Given the description of an element on the screen output the (x, y) to click on. 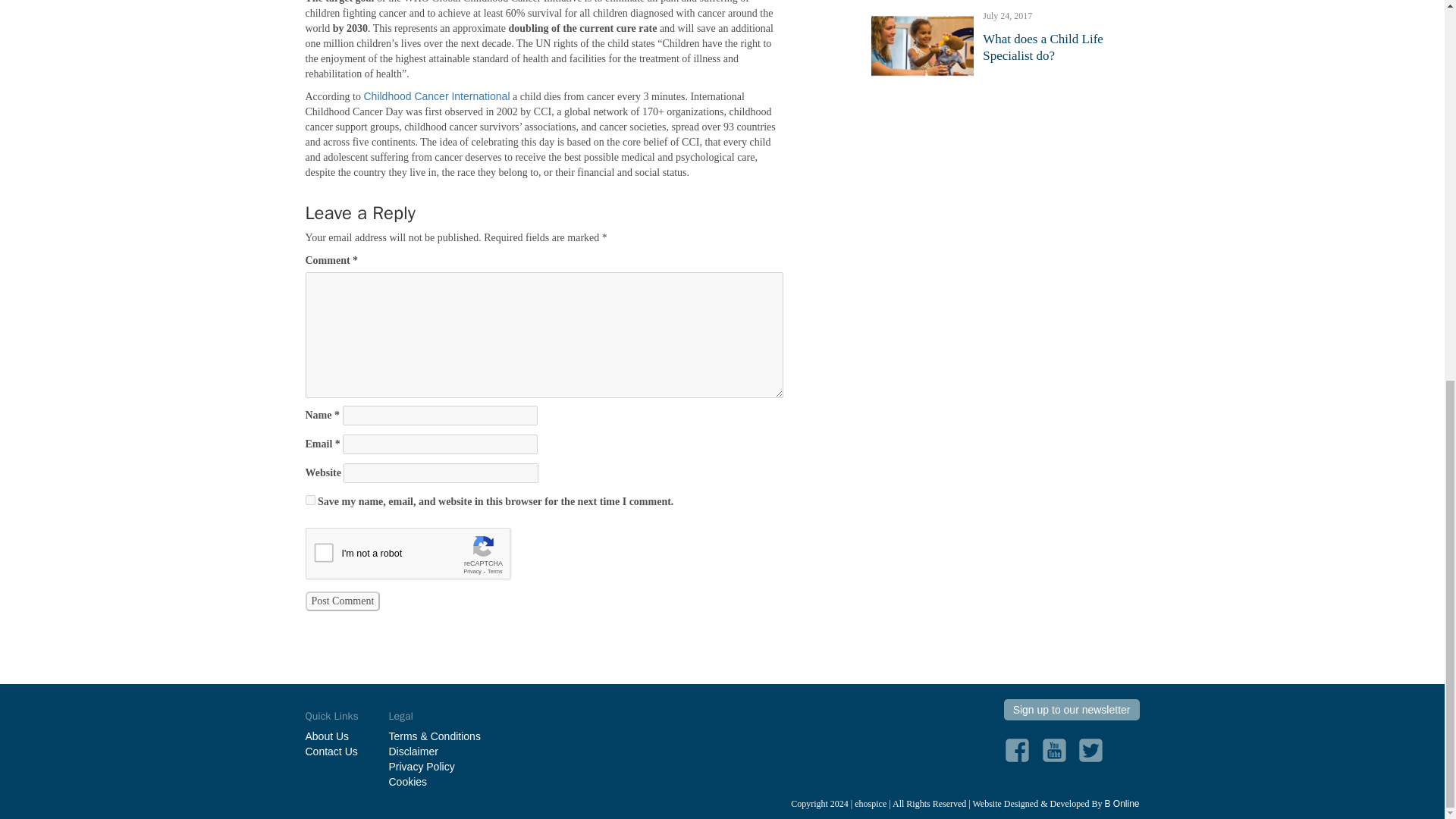
yes (309, 500)
reCAPTCHA (419, 557)
Post Comment (342, 600)
